Given the description of an element on the screen output the (x, y) to click on. 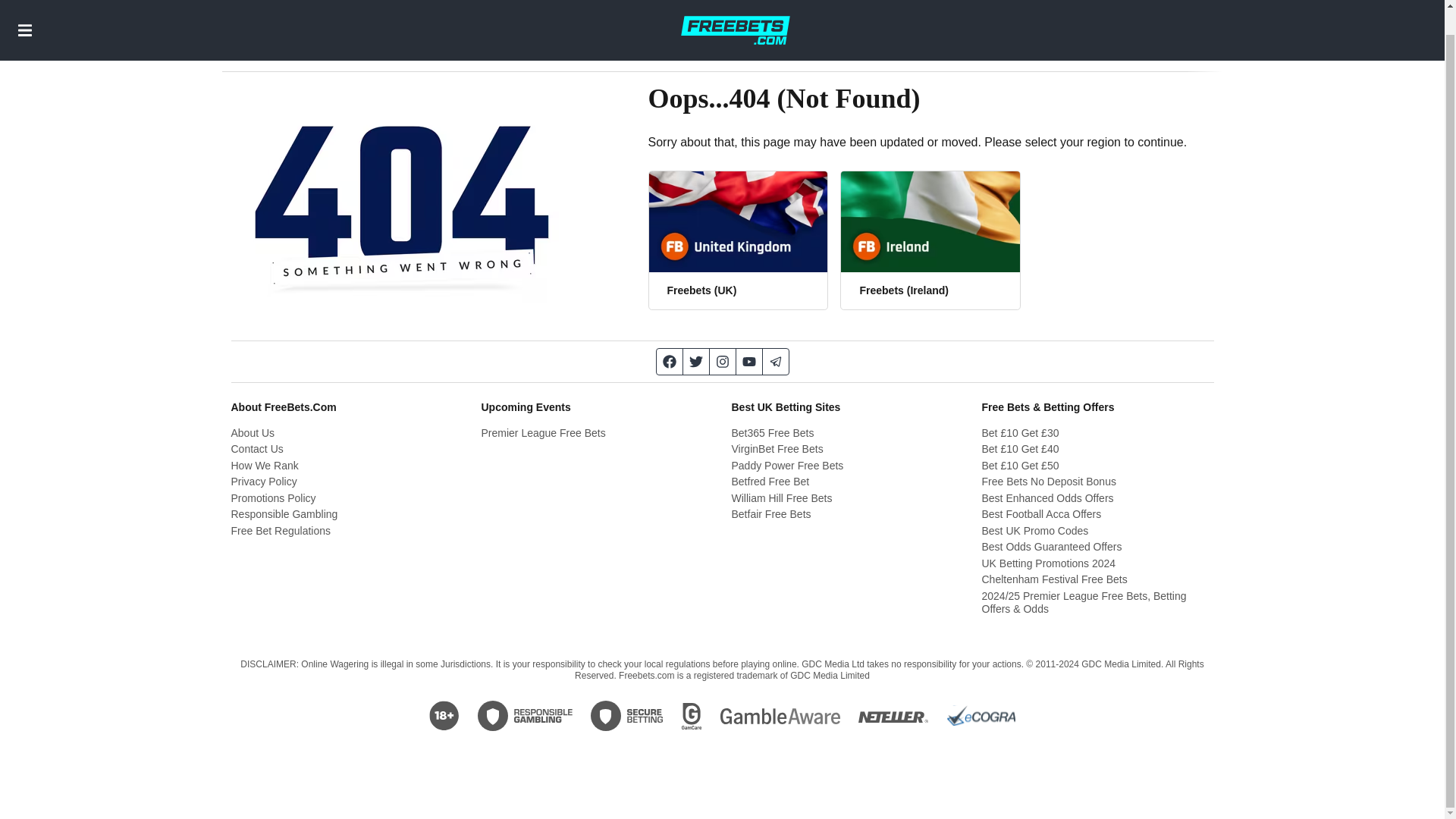
Telegram (775, 361)
Facebook page (669, 361)
Instagram page (723, 361)
Twitter feed (695, 361)
Youtube page (748, 361)
FreeBets Logo (735, 16)
